Given the description of an element on the screen output the (x, y) to click on. 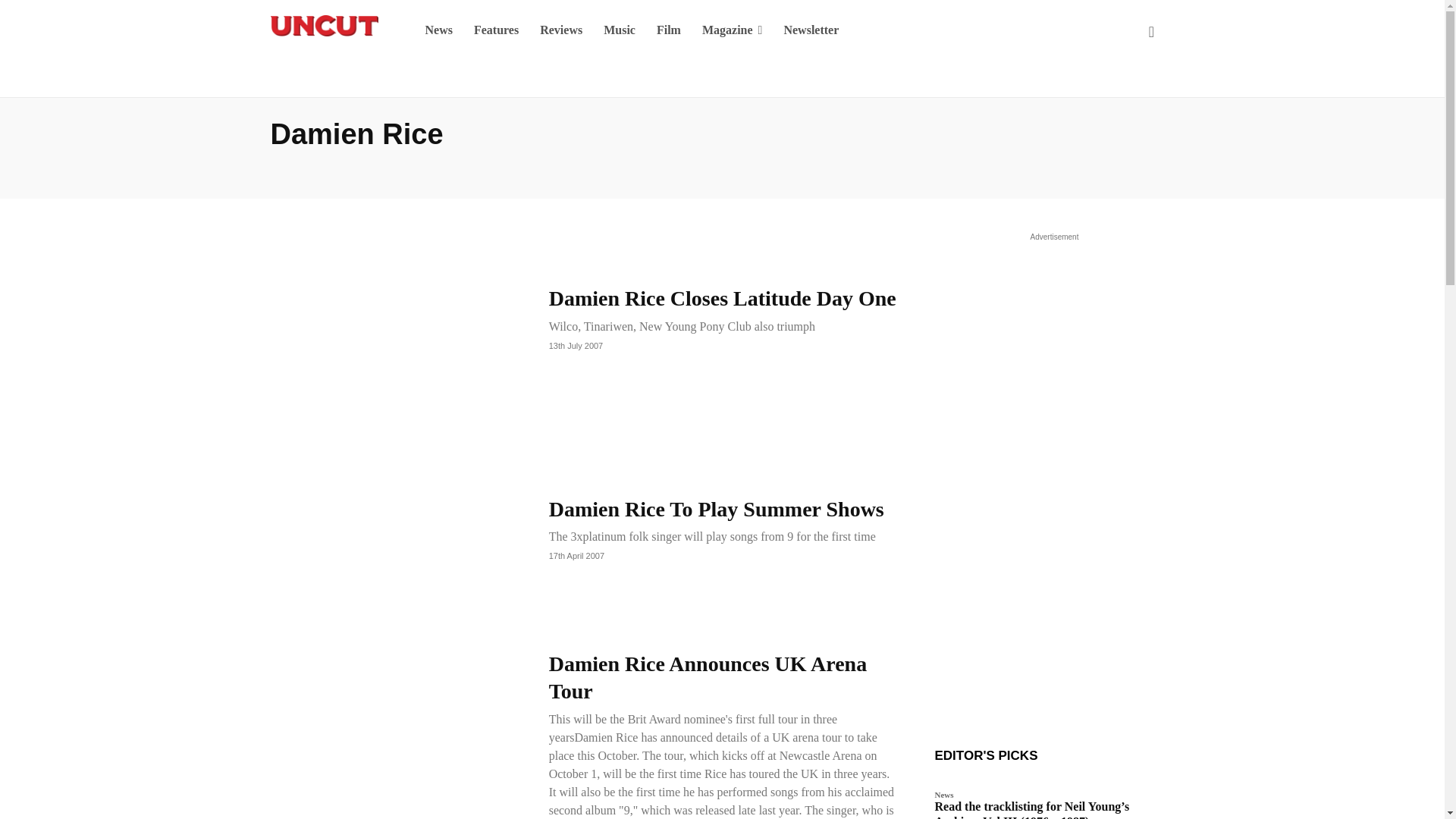
Features (496, 30)
Magazine (732, 30)
Damien Rice To Play Summer Shows (715, 508)
Damien Rice Closes Latitude Day One (722, 298)
Damien Rice To Play Summer Shows (395, 527)
Uncut Logo (323, 25)
Damien Rice Closes Latitude Day One (395, 316)
Damien Rice Announces UK Arena Tour (395, 734)
Damien Rice Announces UK Arena Tour (707, 676)
Newsletter (810, 30)
Reviews (560, 30)
